Given the description of an element on the screen output the (x, y) to click on. 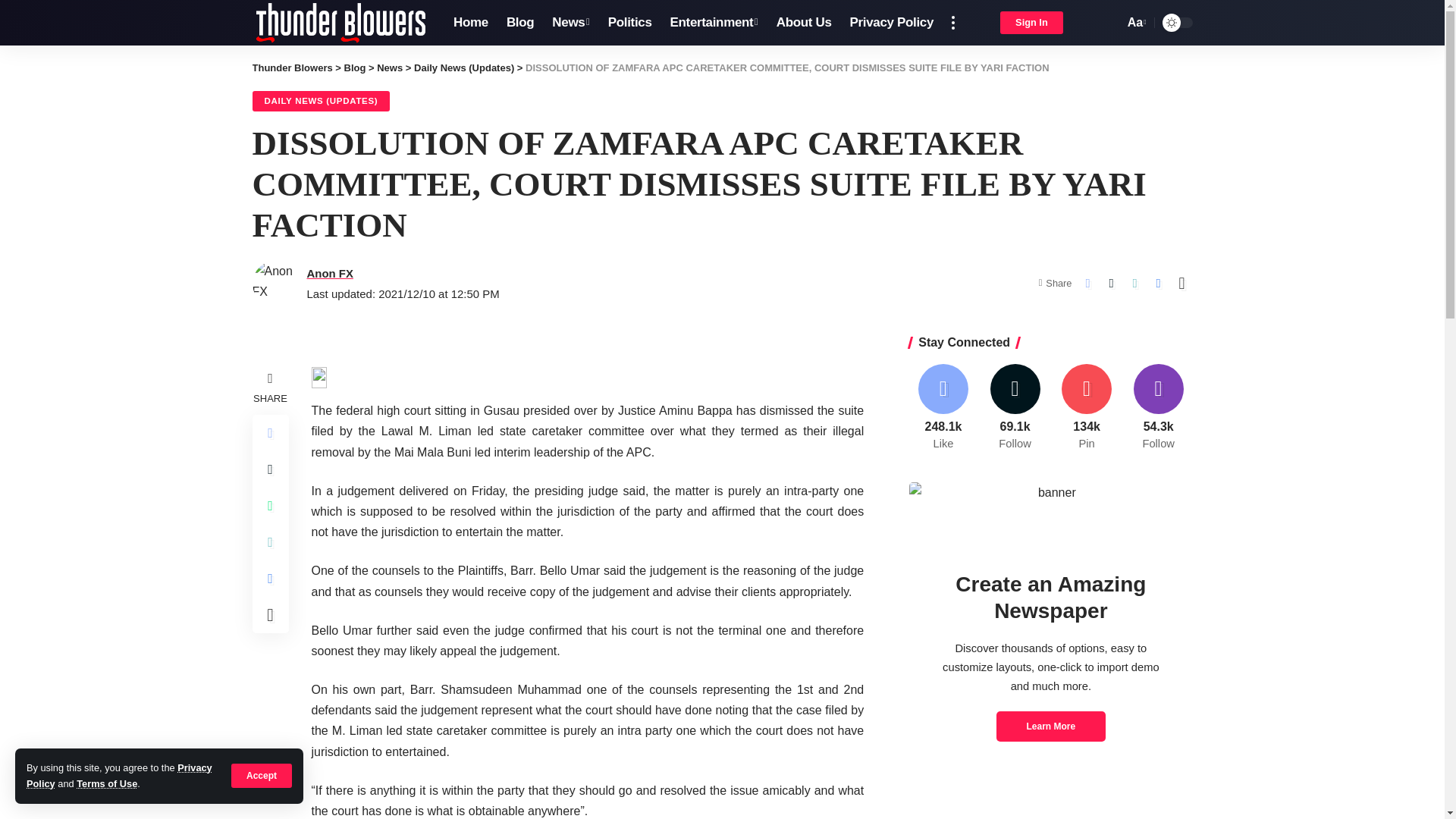
Blog (520, 22)
Politics (629, 22)
Terms of Use (106, 783)
Thunder Blowers (340, 22)
Privacy Policy (1135, 22)
Home (119, 775)
News (470, 22)
Go to Blog. (570, 22)
Privacy Policy (354, 67)
